Given the description of an element on the screen output the (x, y) to click on. 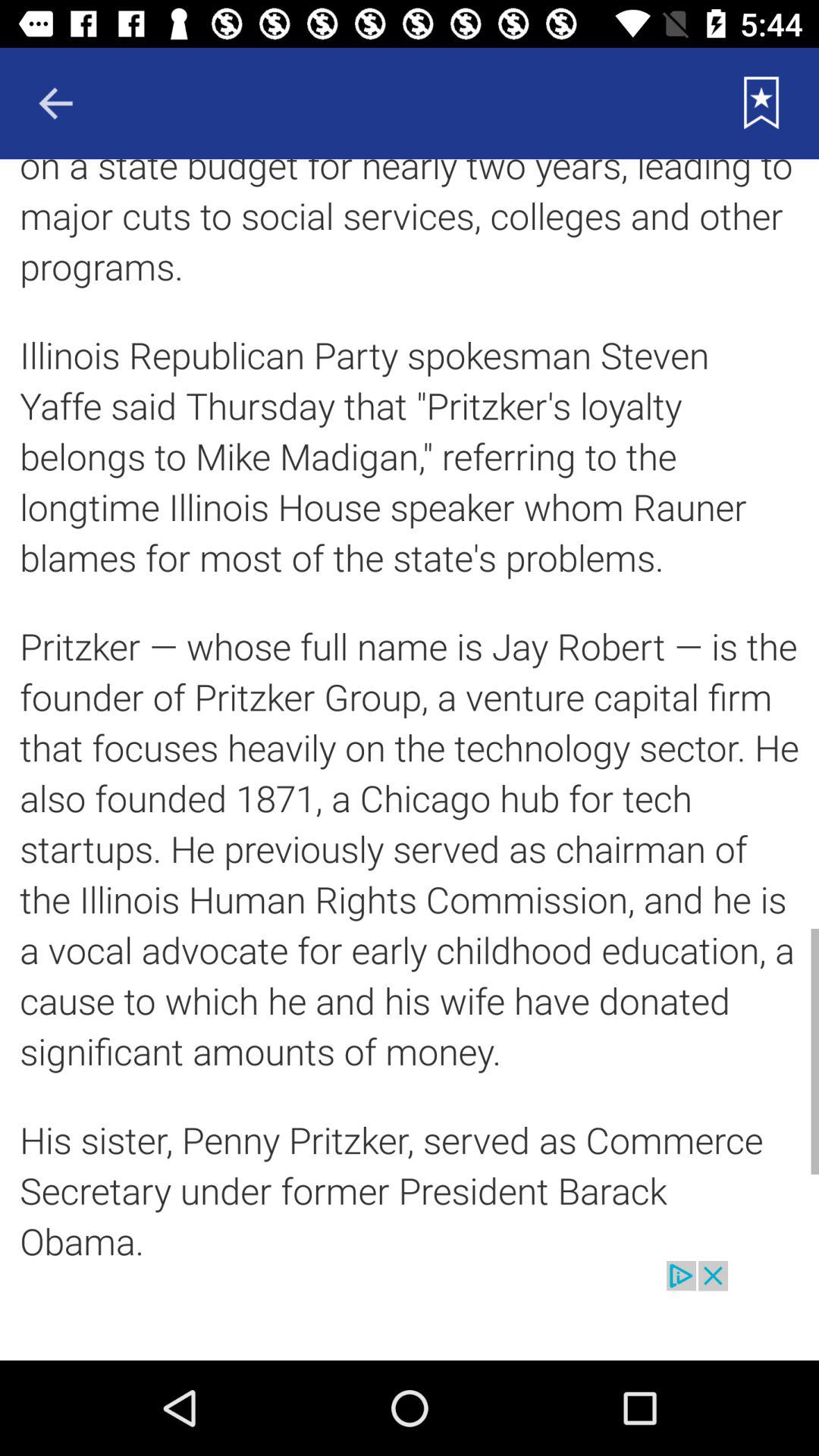
description (409, 709)
